Given the description of an element on the screen output the (x, y) to click on. 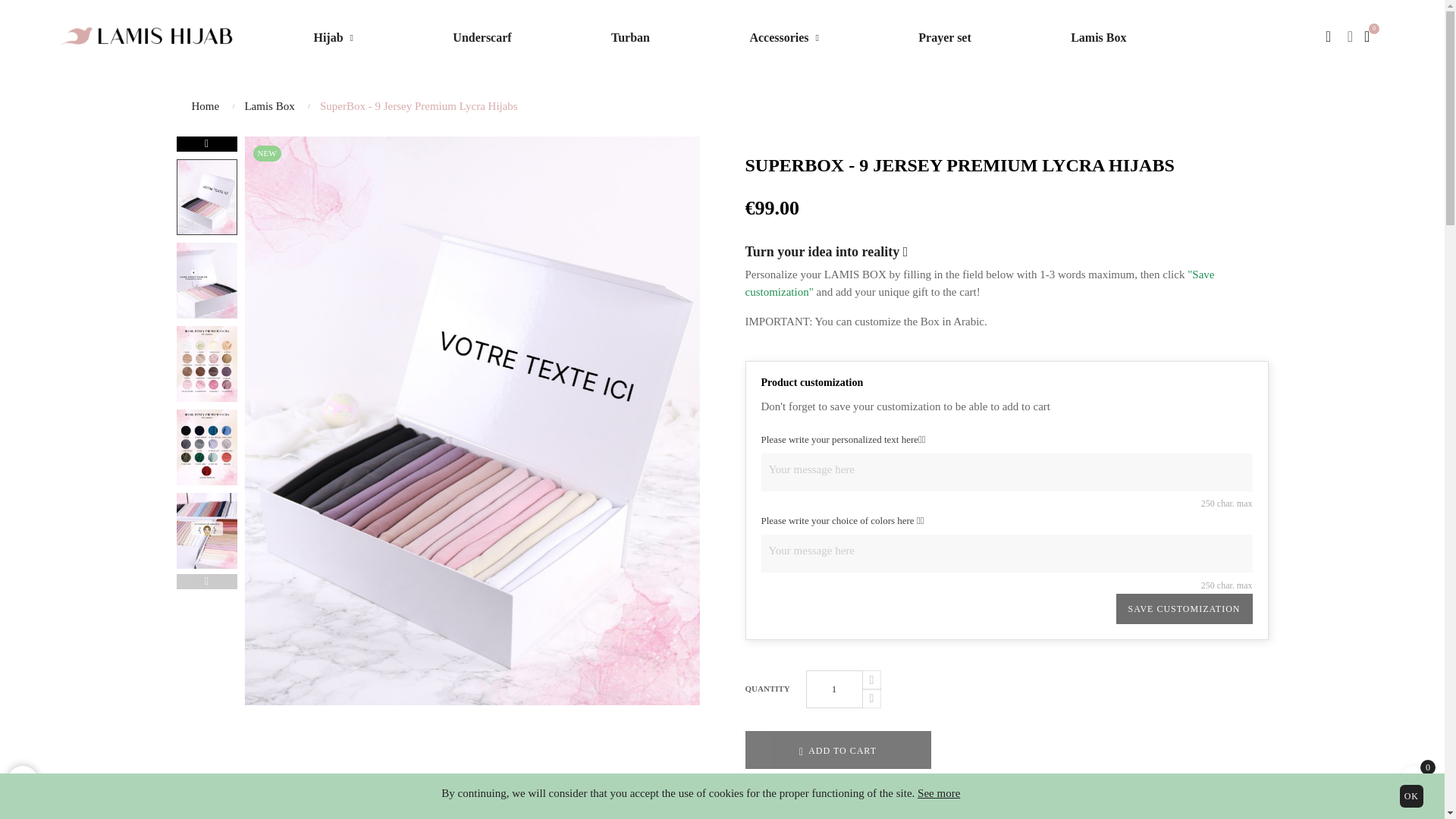
Lamis Box (1098, 37)
Hijab (333, 37)
Accessories (784, 37)
Underscarf (481, 37)
Prayer set (944, 37)
1 (833, 689)
